Given the description of an element on the screen output the (x, y) to click on. 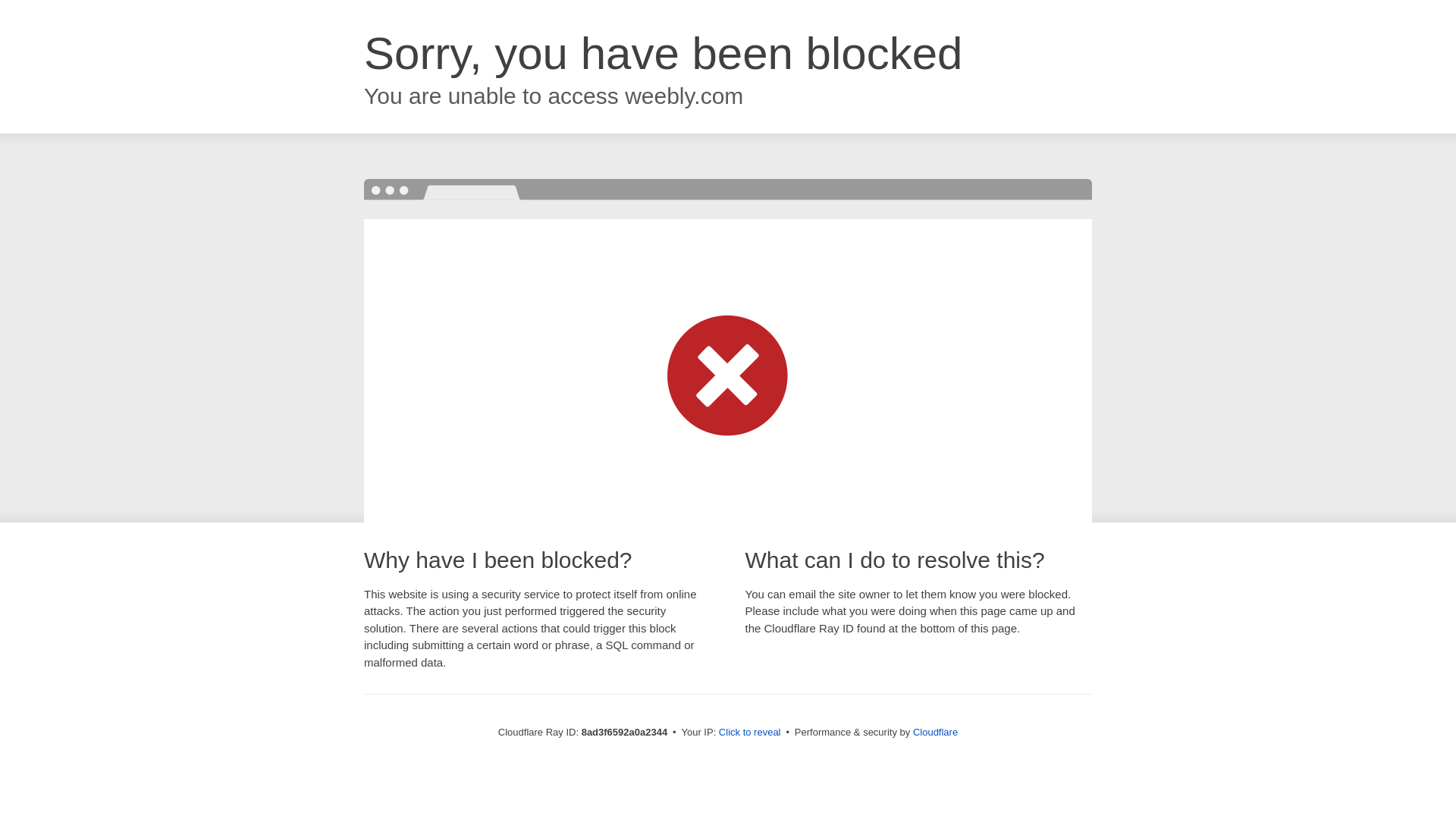
Click to reveal (749, 732)
Cloudflare (935, 731)
